Given the description of an element on the screen output the (x, y) to click on. 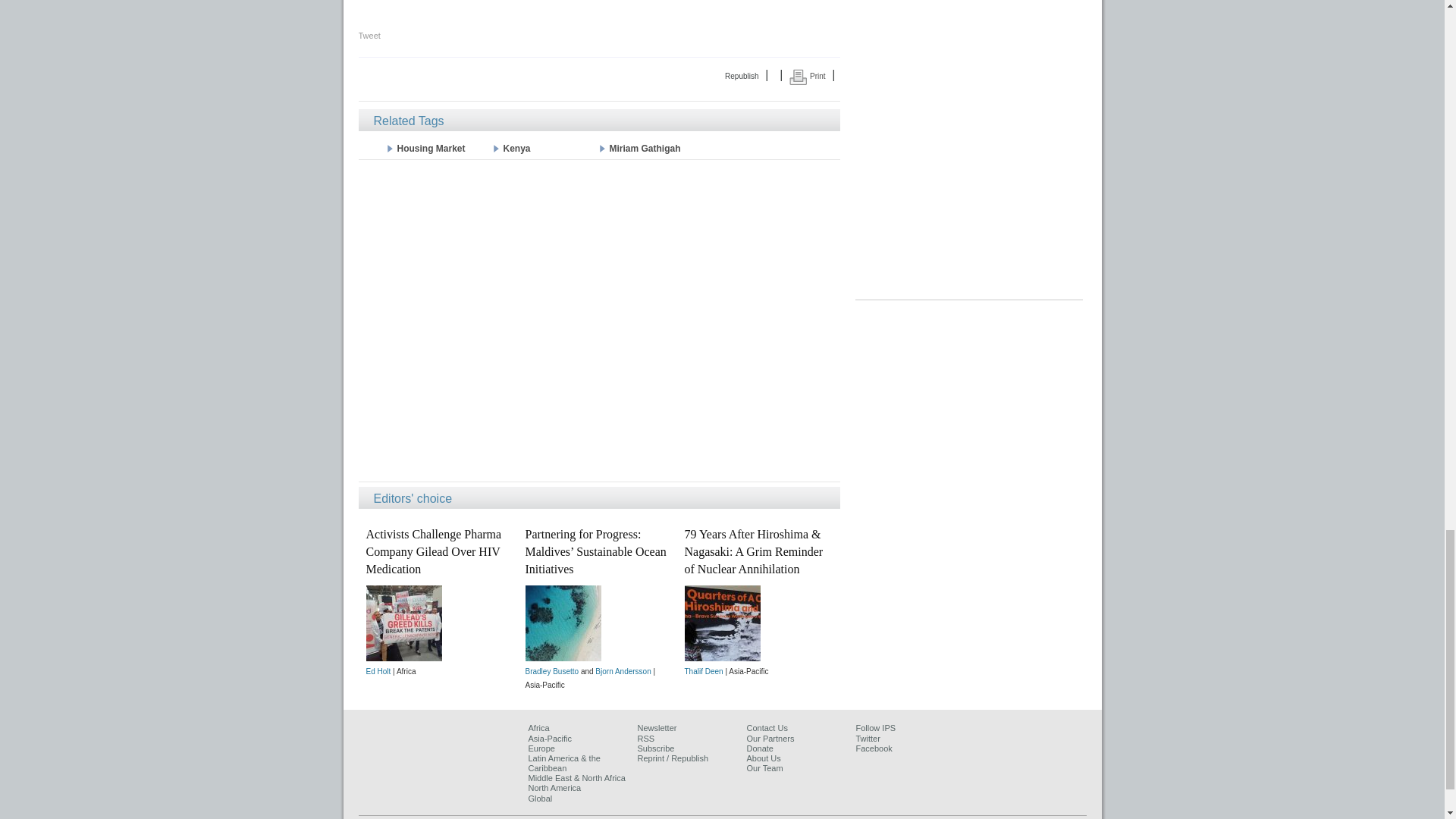
Posts by Thalif Deen (703, 671)
Posts by Bjorn Andersson (622, 671)
Posts by Ed Holt (377, 671)
Posts by Bradley Busetto (551, 671)
